Given the description of an element on the screen output the (x, y) to click on. 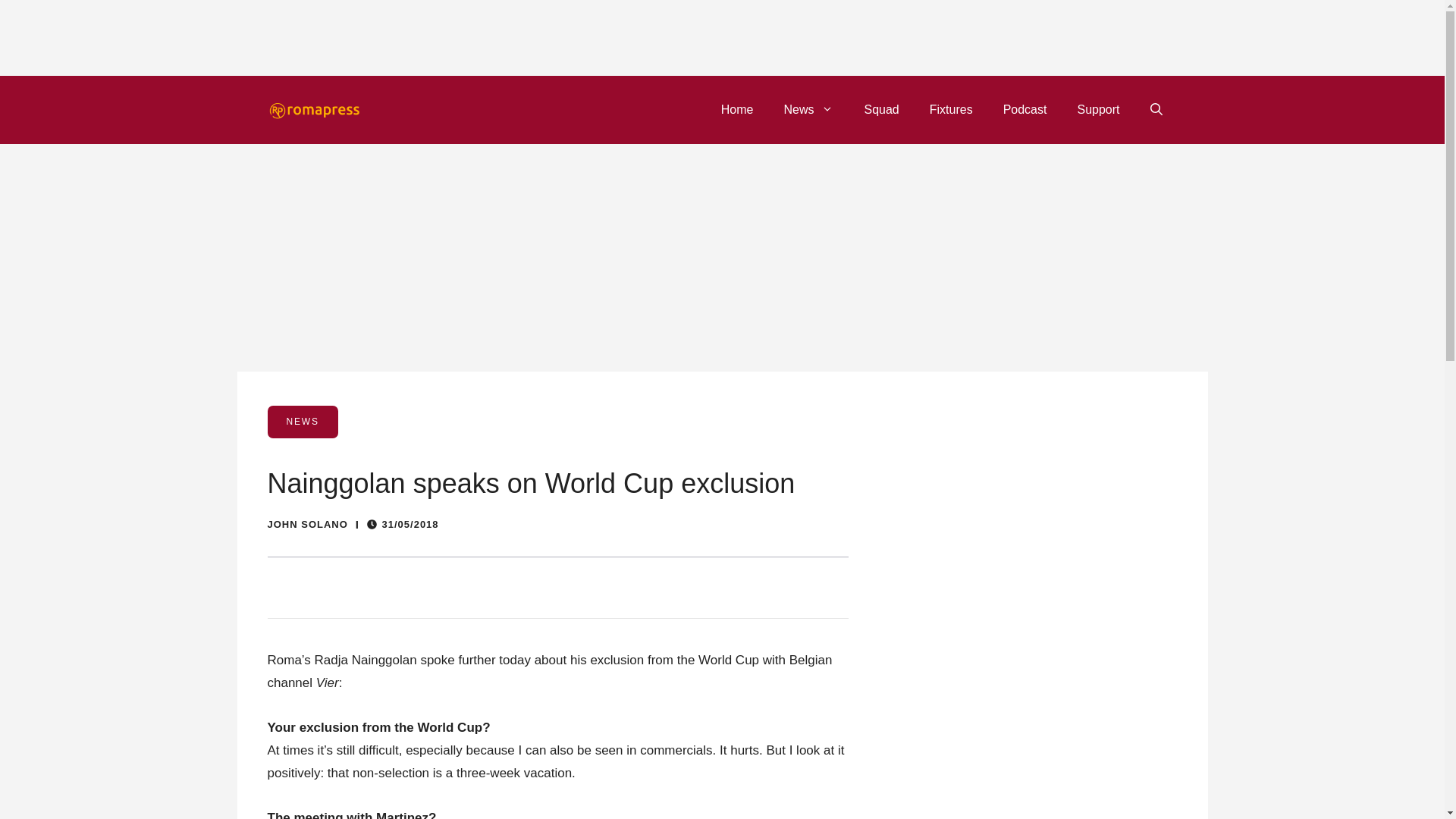
Podcast (1025, 109)
Support (1097, 109)
News (808, 109)
Squad (881, 109)
Home (737, 109)
Fixtures (951, 109)
